Given the description of an element on the screen output the (x, y) to click on. 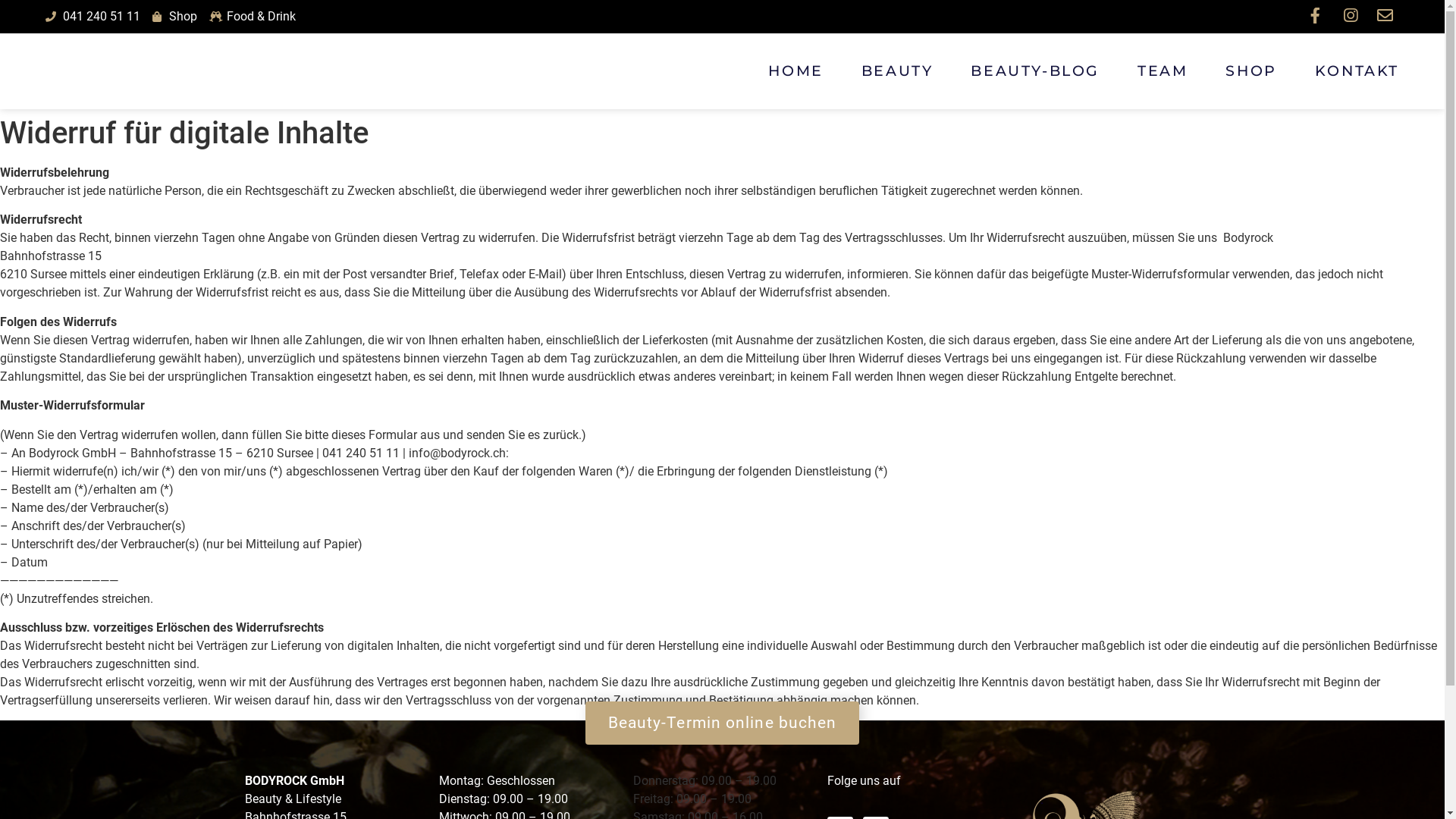
HOME Element type: text (795, 70)
SHOP Element type: text (1250, 70)
Food & Drink Element type: text (252, 16)
041 240 51 11 Element type: text (92, 16)
BEAUTY Element type: text (897, 70)
KONTAKT Element type: text (1356, 70)
BEAUTY-BLOG Element type: text (1034, 70)
Beauty-Termin online buchen Element type: text (722, 722)
TEAM Element type: text (1162, 70)
Shop Element type: text (174, 16)
